Given the description of an element on the screen output the (x, y) to click on. 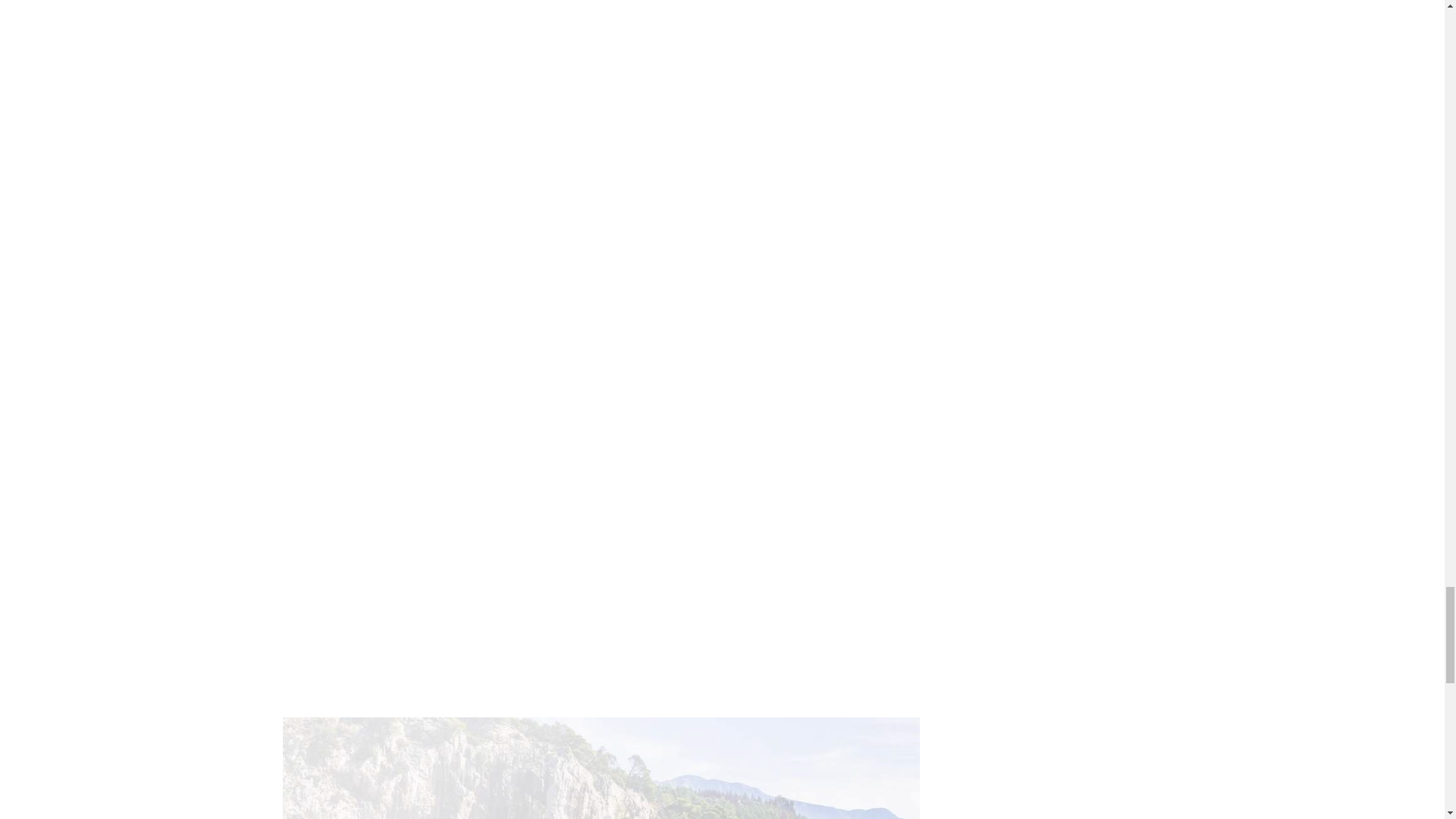
YouTube video player (501, 102)
YouTube video player (501, 343)
